Given the description of an element on the screen output the (x, y) to click on. 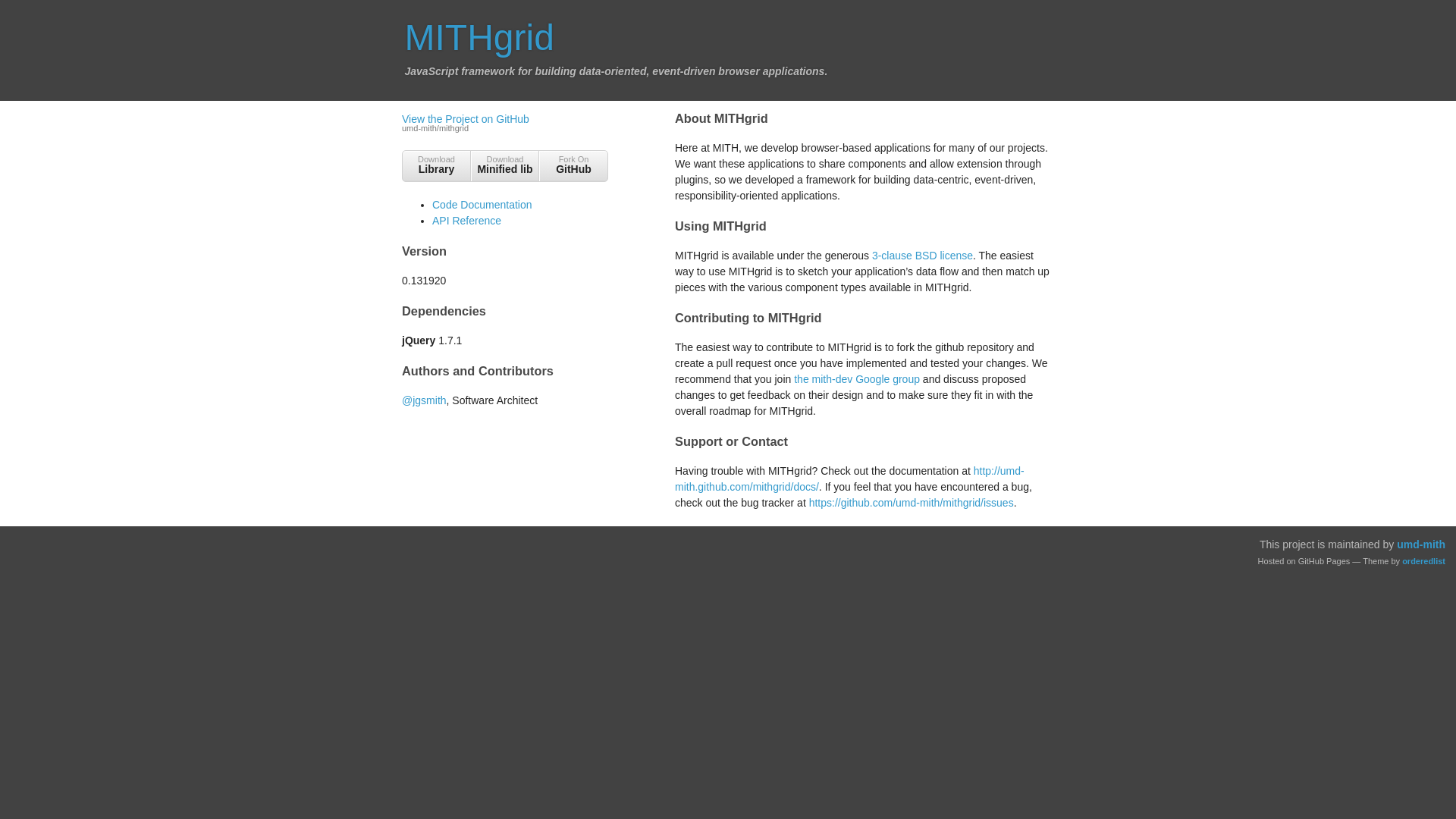
orderedlist (1423, 560)
Code Documentation (482, 204)
API Reference (466, 220)
3-clause BSD license (922, 255)
umd-mith (504, 167)
the mith-dev Google group (436, 167)
MITHgrid (573, 167)
